Given the description of an element on the screen output the (x, y) to click on. 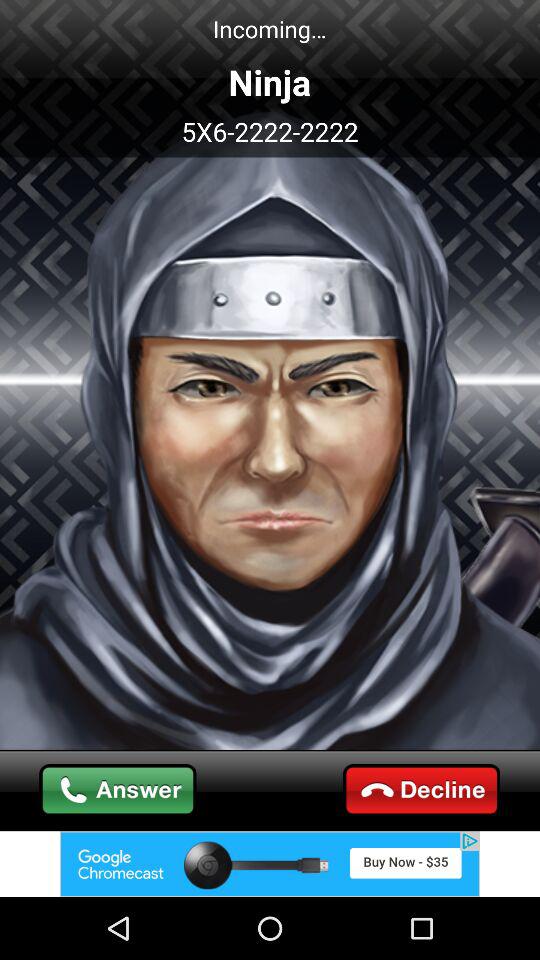
go to call cut the option (421, 790)
